Given the description of an element on the screen output the (x, y) to click on. 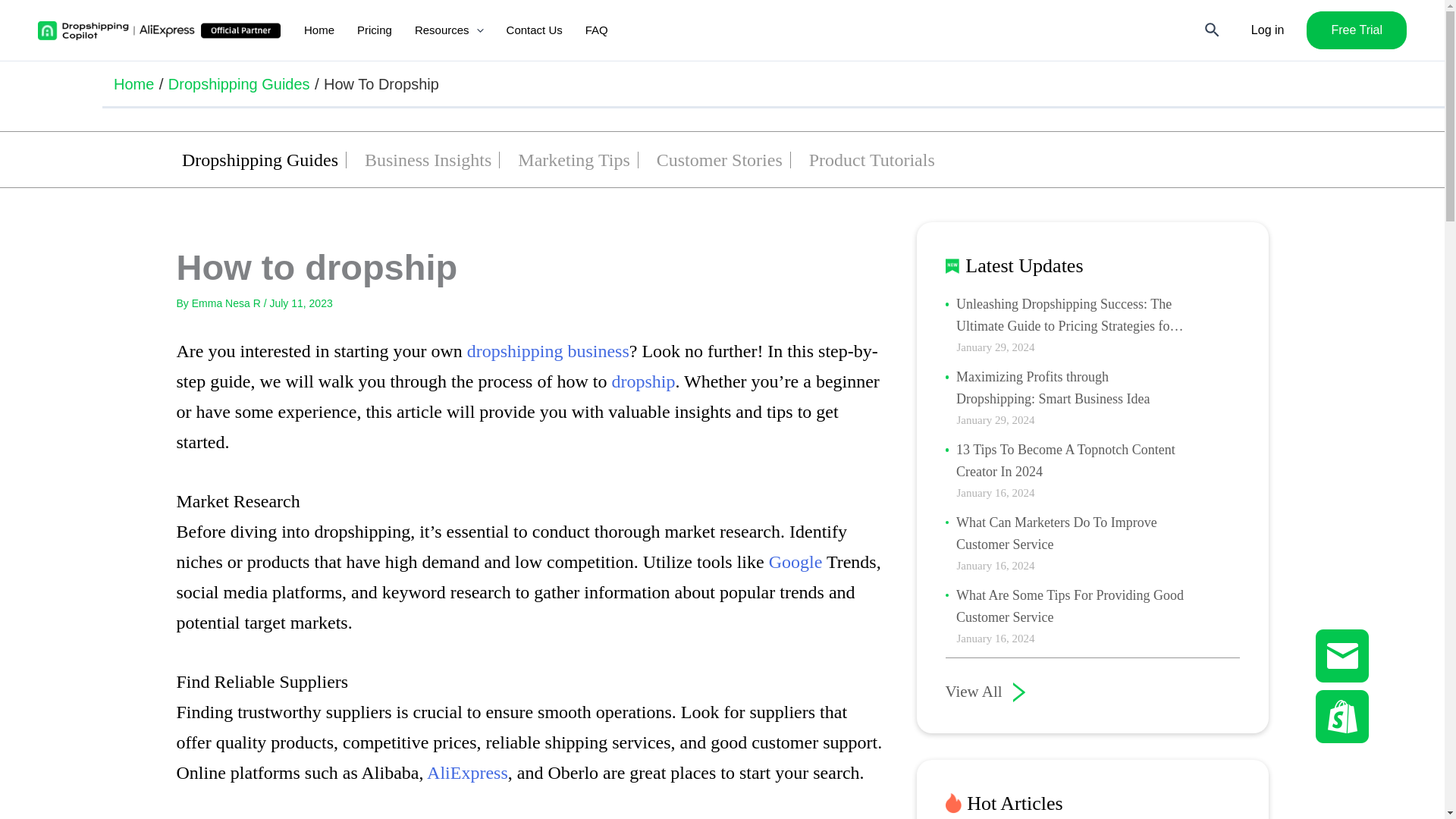
Resources (449, 30)
Free Trial (1356, 30)
Business Insights (428, 160)
FAQ (596, 30)
What Are The Recent Google Updates (795, 561)
Contact Us (534, 30)
AliExpress (467, 772)
Log in (1267, 29)
Home (133, 83)
Pricing (374, 30)
Search (1213, 30)
Marketing Tips (573, 160)
Product Tutorials (871, 160)
Trends shaping the future of business analytics (547, 351)
Dropshipping Guides (239, 83)
